Given the description of an element on the screen output the (x, y) to click on. 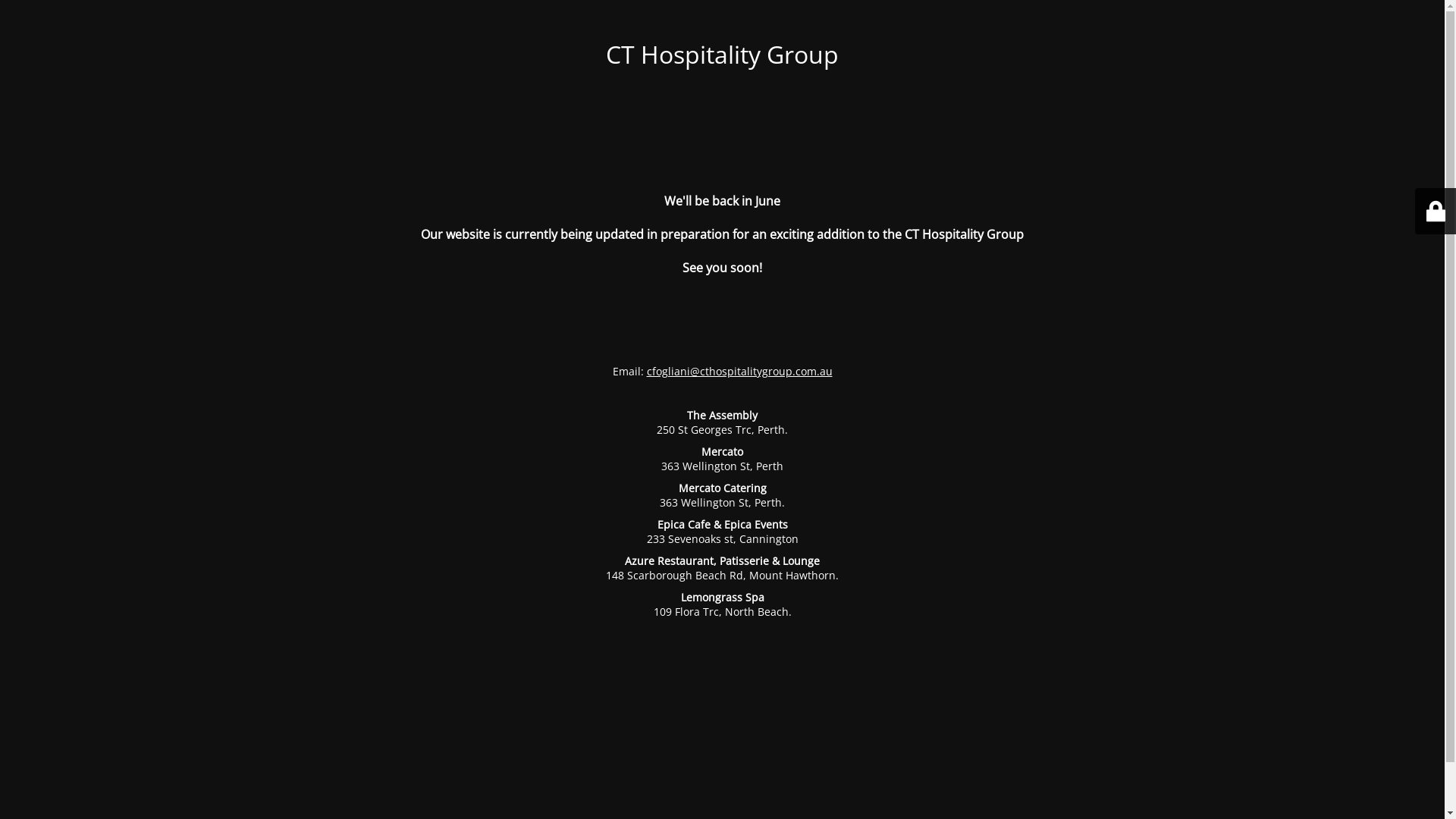
cfogliani@cthospitalitygroup.com.au Element type: text (738, 371)
